Given the description of an element on the screen output the (x, y) to click on. 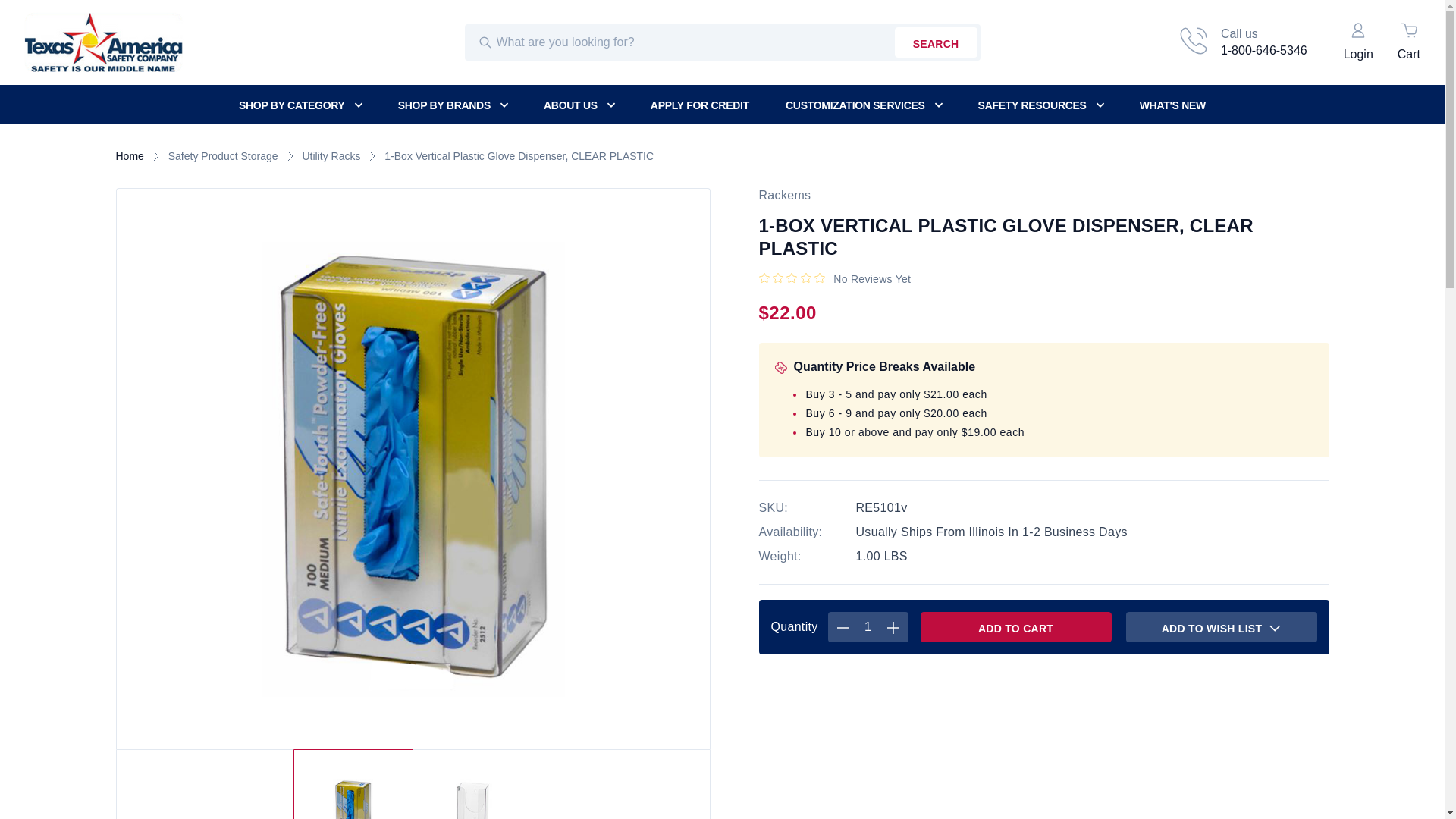
SEARCH (1242, 41)
Texas America Safety Company (935, 42)
SHOP BY CATEGORY (103, 42)
Add to Cart (309, 104)
1-Box Vertical Plastic Glove Dispenser, CLEAR PLASTIC (1016, 626)
